Given the description of an element on the screen output the (x, y) to click on. 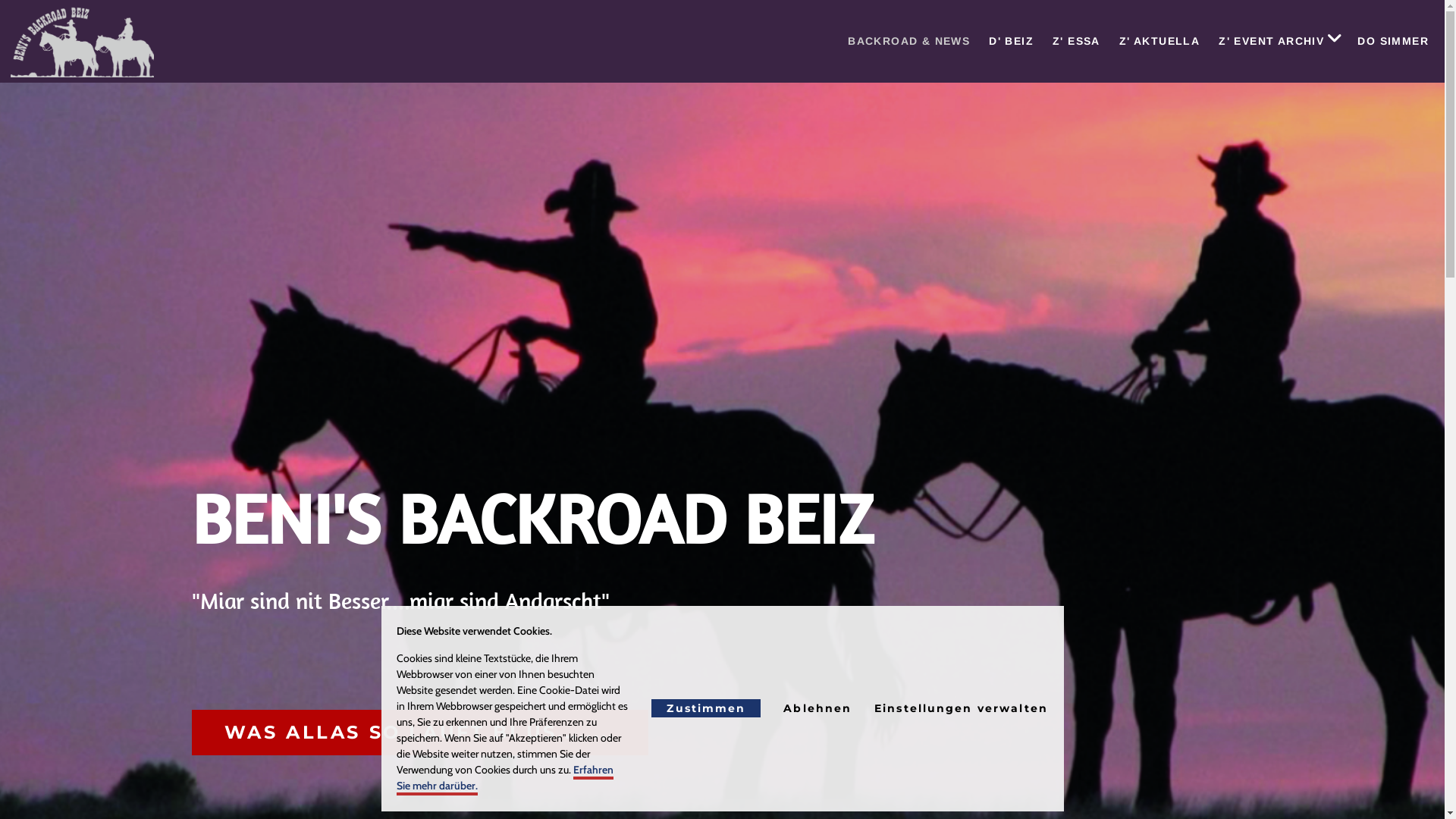
BACKROAD & NEWS Element type: text (906, 40)
DO SIMMER Element type: text (1390, 40)
Einstellungen verwalten Element type: text (961, 708)
D' BEIZ Element type: text (1008, 40)
Z' ESSA Element type: text (1073, 40)
Ablehnen Element type: text (817, 708)
logo Element type: hover (81, 41)
Z' AKTUELLA Element type: text (1156, 40)
Zustimmen Element type: text (705, 708)
